Given the description of an element on the screen output the (x, y) to click on. 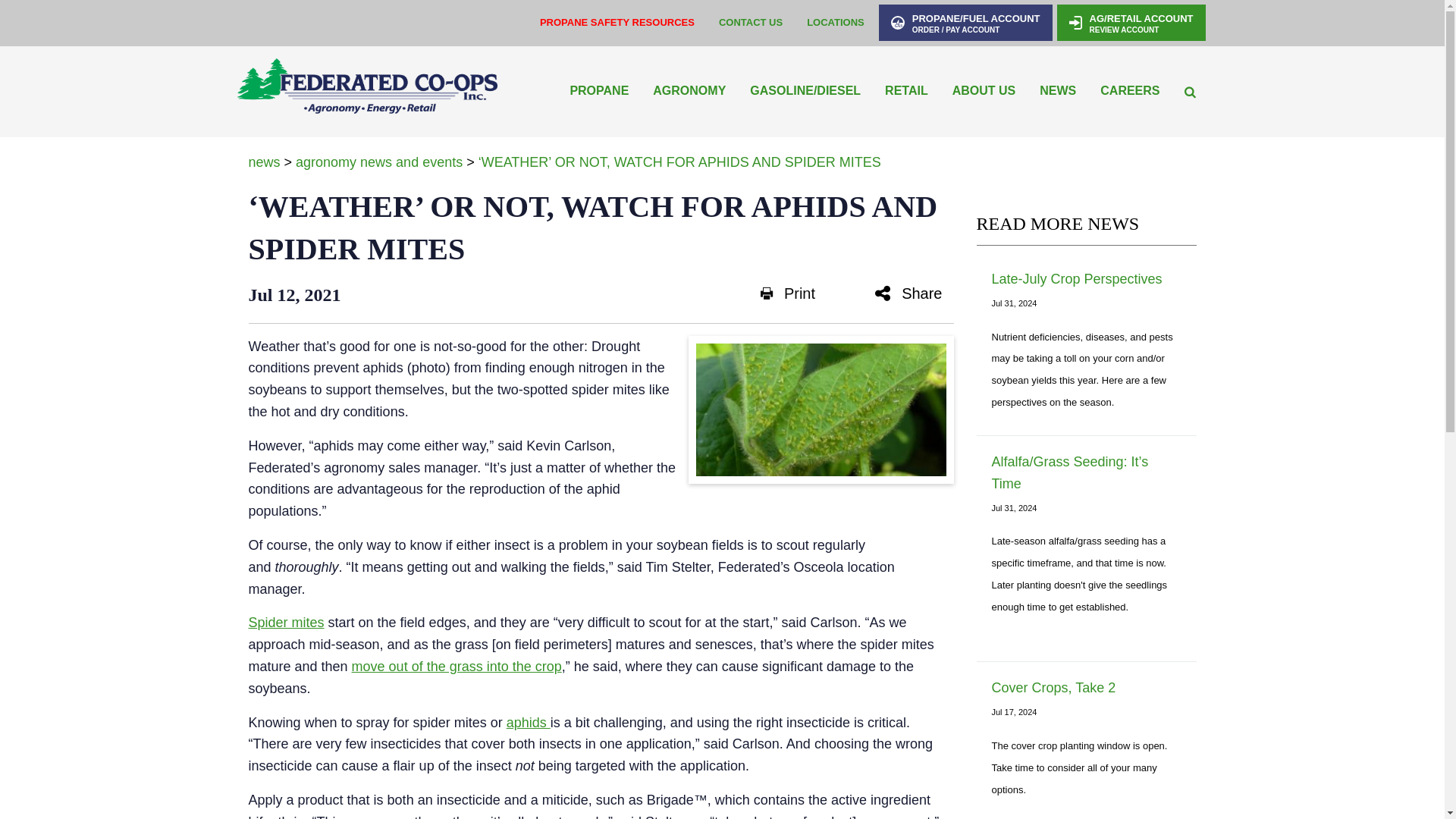
PROPANE (598, 91)
Federated Coop (365, 91)
AGRONOMY (688, 91)
RETAIL (906, 91)
ABOUT US (984, 91)
